Given the description of an element on the screen output the (x, y) to click on. 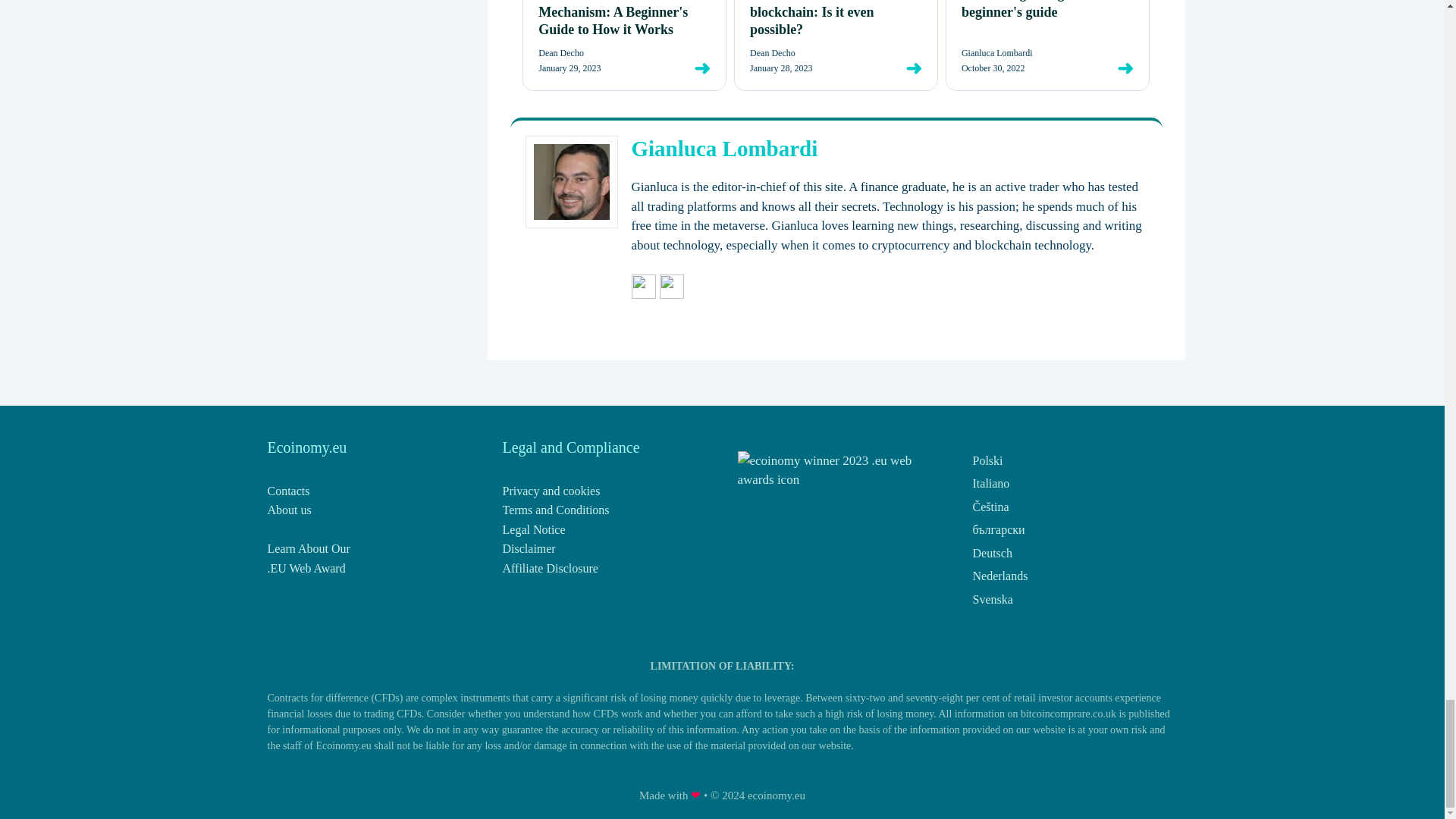
Gianluca Lombardi (723, 148)
Contatto (287, 490)
Send Gianluca Lombardi Mail (642, 295)
More Posts By Gianluca Lombardi (671, 295)
